Given the description of an element on the screen output the (x, y) to click on. 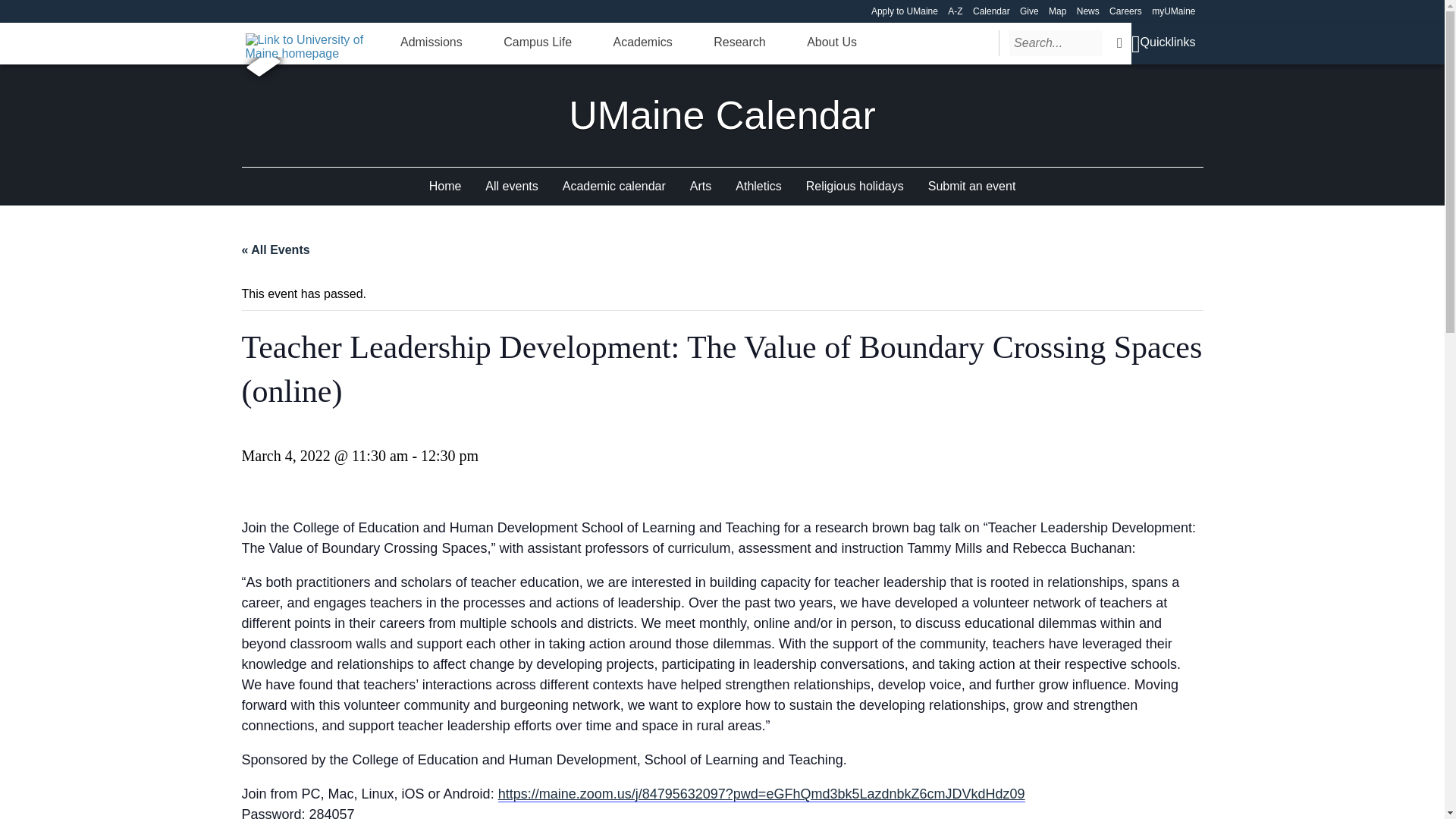
Give (1029, 10)
Map (1056, 10)
Careers (1125, 10)
Apply to UMaine (903, 10)
Calendar (991, 10)
Search for: (1055, 43)
myUMaine (1173, 10)
Search (1119, 42)
A-Z (954, 10)
News (1088, 10)
Admissions (431, 42)
